Given the description of an element on the screen output the (x, y) to click on. 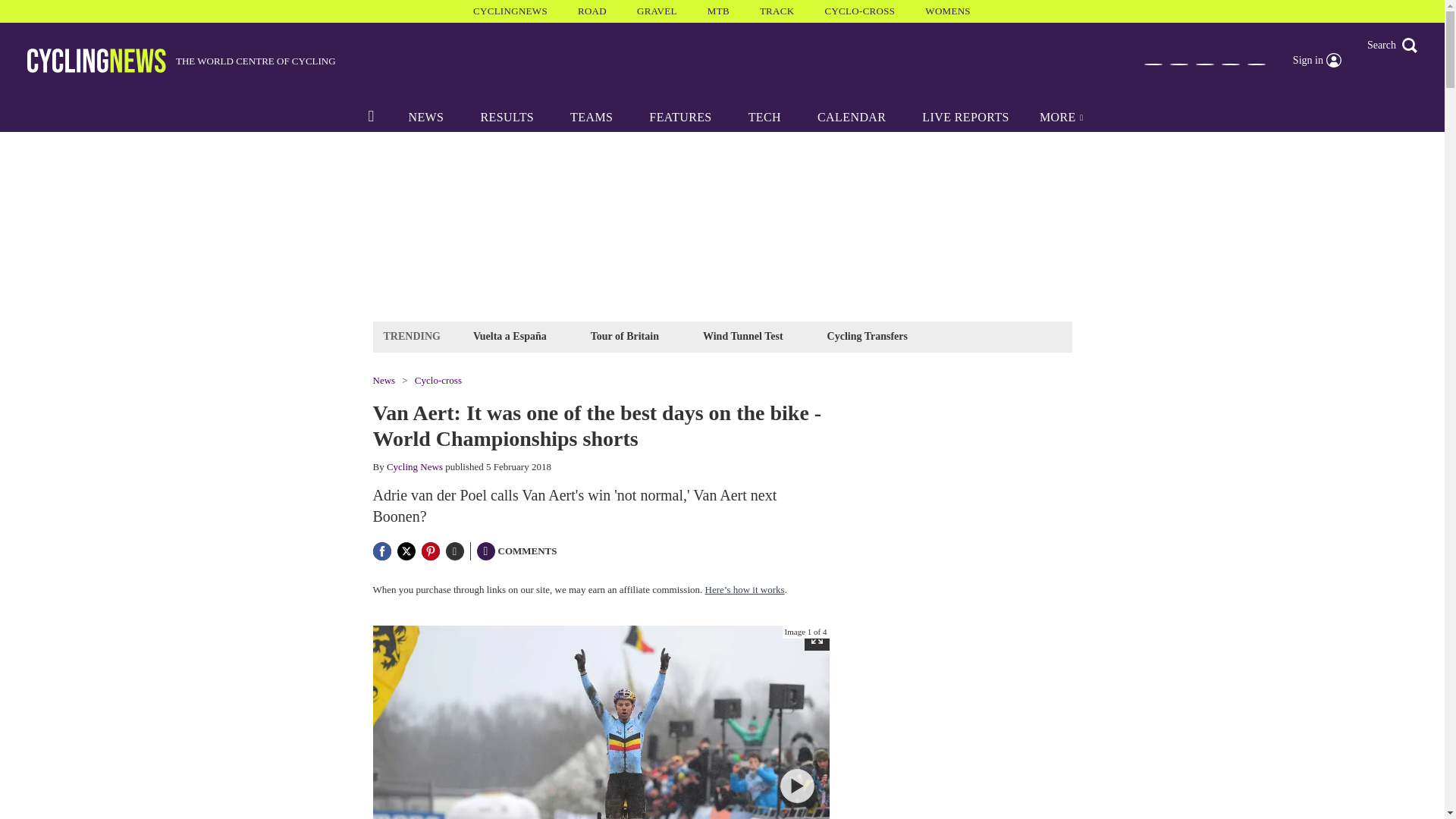
TEAMS (590, 117)
CYCLINGNEWS (510, 10)
THE WORLD CENTRE OF CYCLING (181, 60)
WOMENS (947, 10)
GRAVEL (657, 10)
TRACK (777, 10)
NEWS (425, 117)
TECH (764, 117)
Cyclo-cross (437, 379)
RESULTS (506, 117)
